Given the description of an element on the screen output the (x, y) to click on. 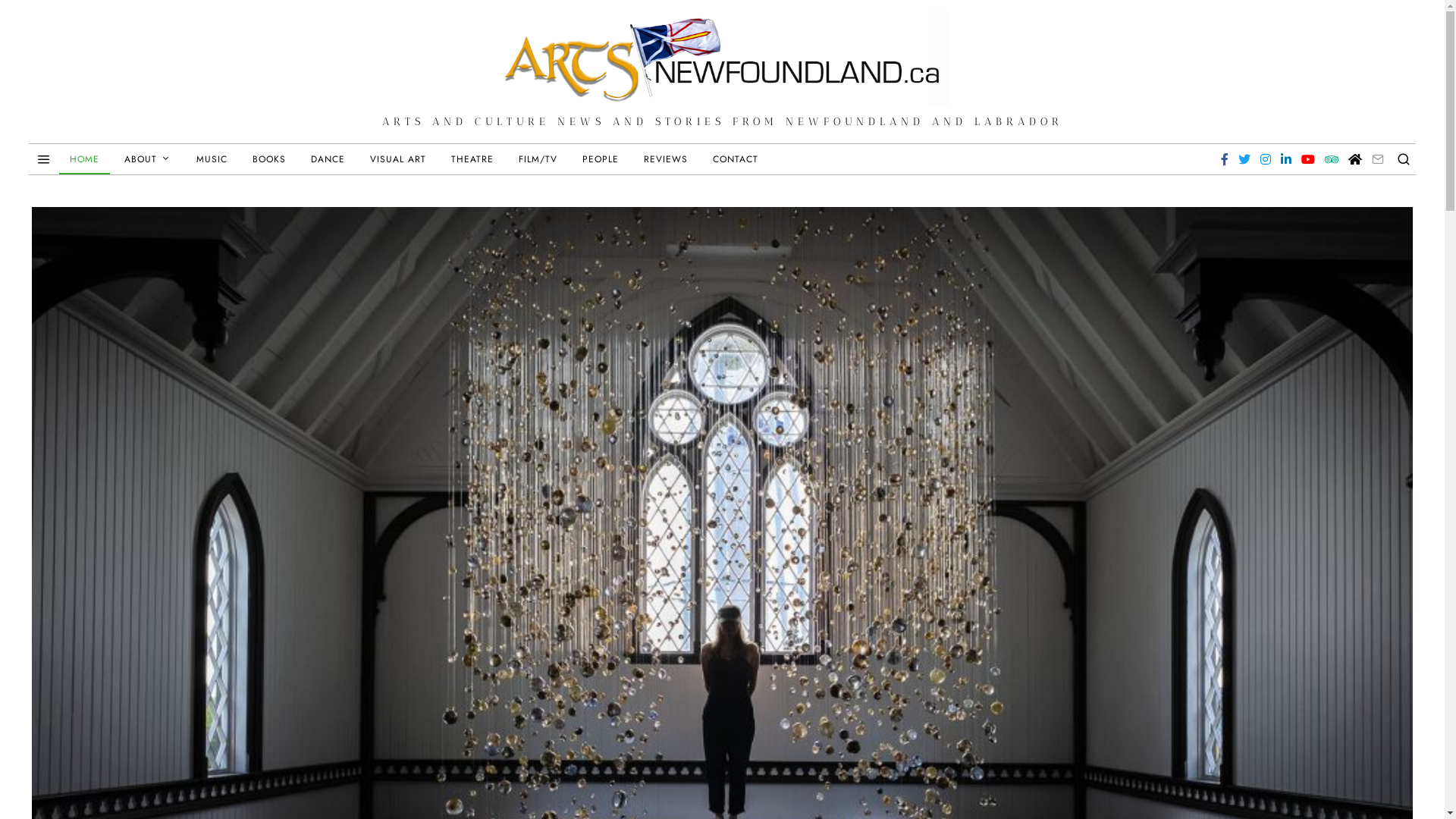
CONTACT Element type: text (735, 159)
ABOUT Element type: text (147, 159)
VISUAL ART Element type: text (397, 159)
BOOKS Element type: text (268, 159)
Twitter Element type: hover (1244, 159)
FILM/TV Element type: text (537, 159)
MUSIC Element type: text (211, 159)
REVIEWS Element type: text (665, 159)
Facebook Element type: hover (1224, 159)
HOME Element type: text (84, 159)
THEATRE Element type: text (472, 159)
Home Element type: hover (1354, 159)
TripAdvisor Element type: hover (1331, 159)
DANCE Element type: text (327, 159)
YouTube Element type: hover (1307, 159)
Email Element type: hover (1377, 159)
Instagram Element type: hover (1265, 159)
PEOPLE Element type: text (600, 159)
LinkedIn Element type: hover (1286, 159)
